Given the description of an element on the screen output the (x, y) to click on. 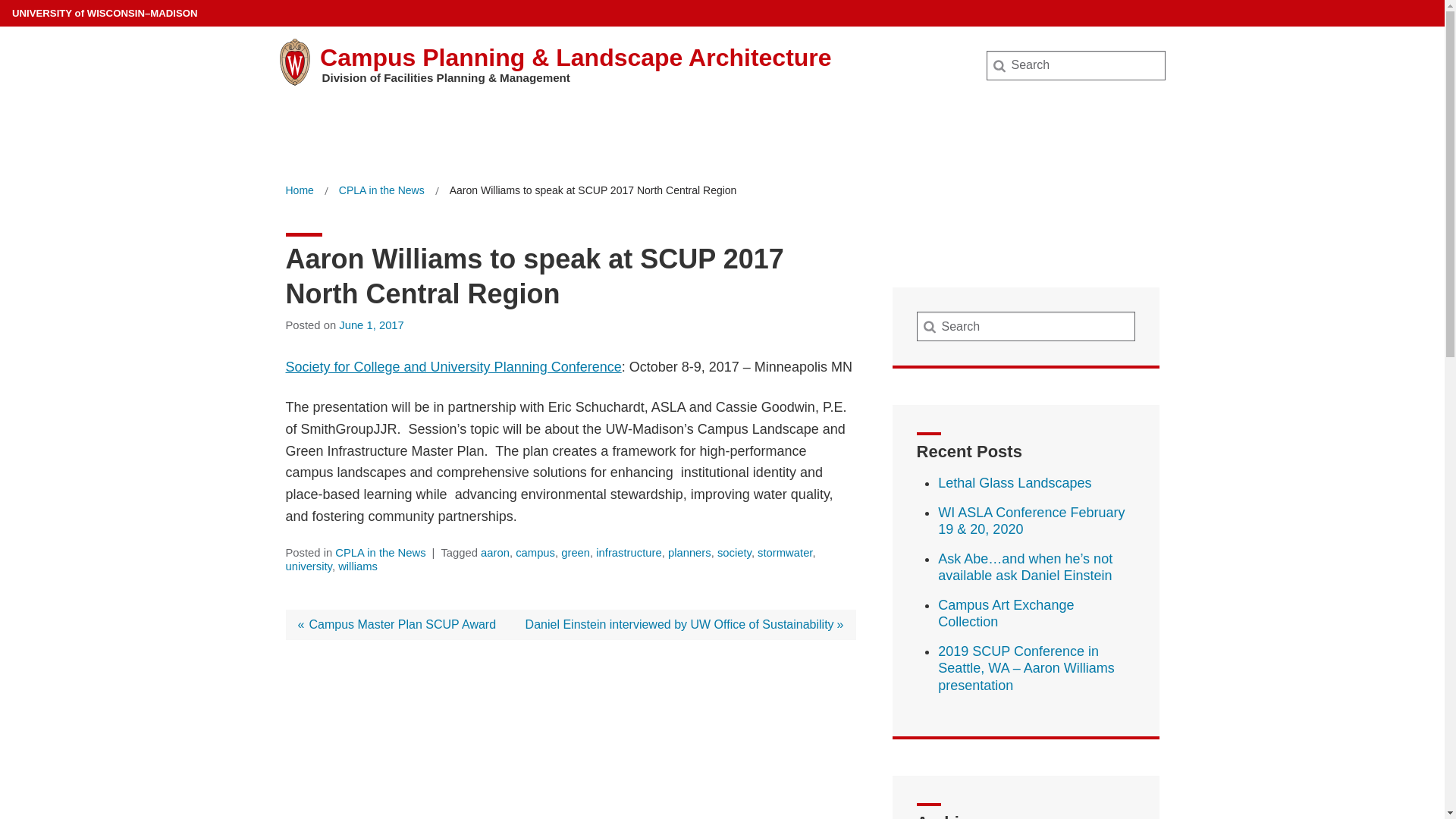
Skip to main content (3, 3)
Aaron Williams to speak at SCUP 2017 North Central Region (592, 190)
CPLA in the News (382, 190)
CPLA in the News (382, 190)
June 1, 2017 (371, 325)
Home (299, 190)
Home (299, 190)
Aaron Williams to speak at SCUP 2017 North Central Region (592, 190)
Search (37, 16)
